Given the description of an element on the screen output the (x, y) to click on. 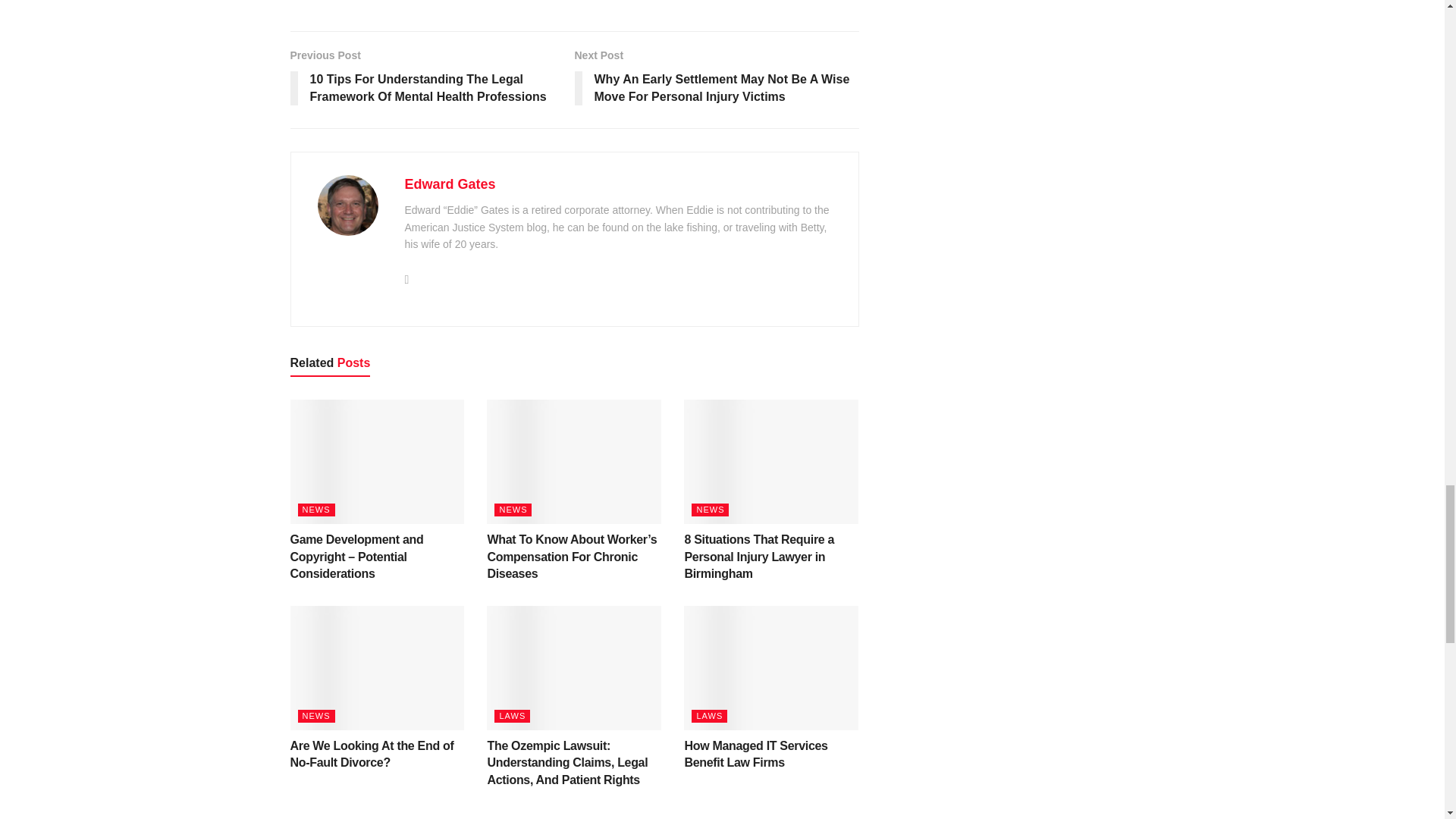
NEWS (513, 509)
NEWS (315, 509)
NEWS (315, 716)
NEWS (710, 509)
Edward Gates (450, 183)
